Given the description of an element on the screen output the (x, y) to click on. 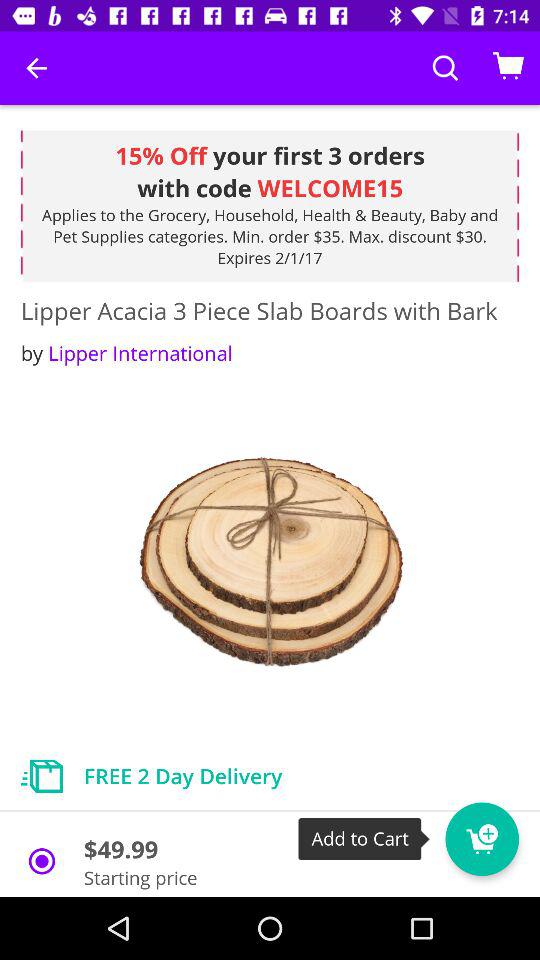
add item to the shopping cart (482, 839)
